Given the description of an element on the screen output the (x, y) to click on. 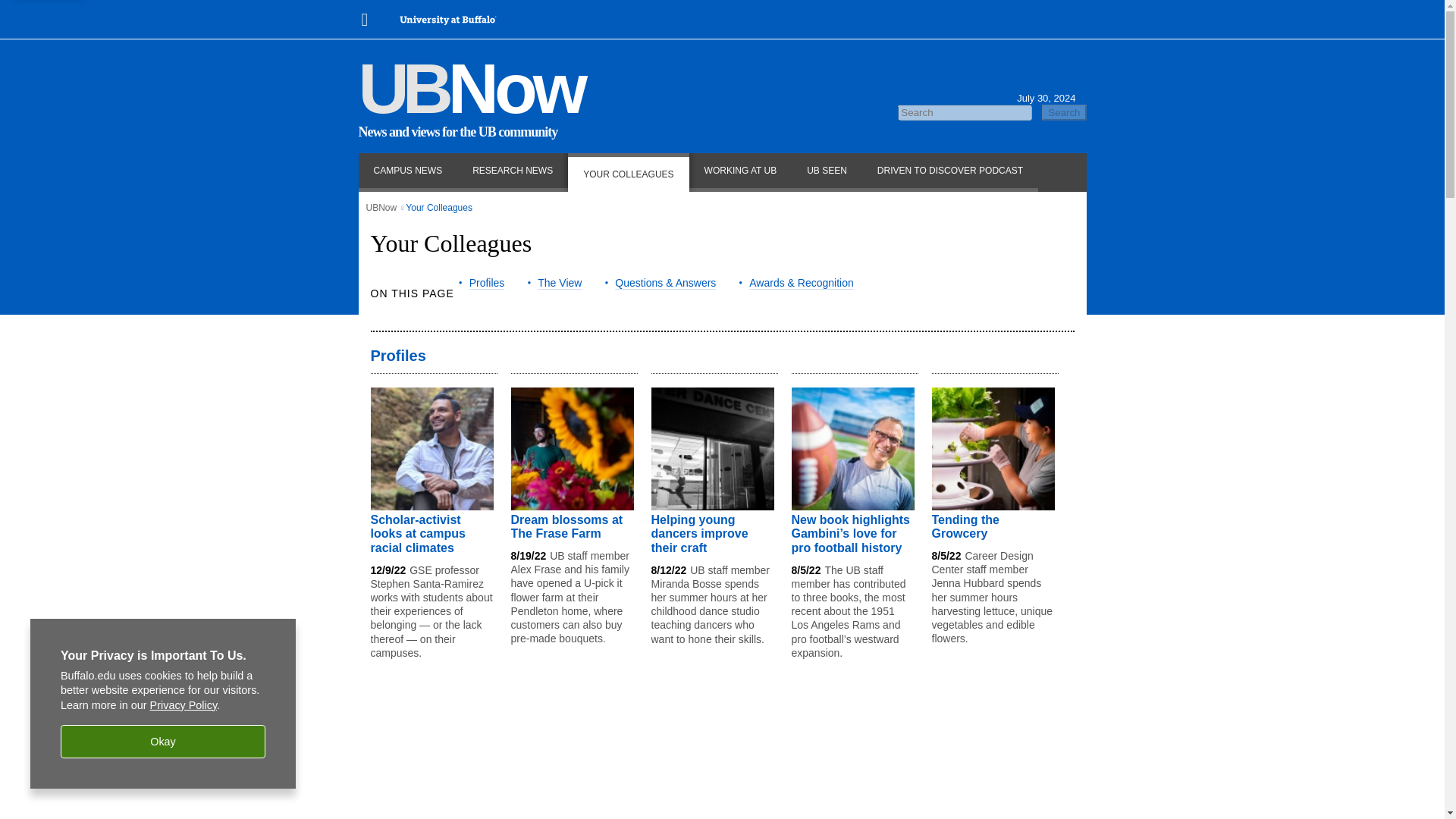
DRIVEN TO DISCOVER PODCAST (949, 172)
Profiles (486, 289)
RESEARCH NEWS (512, 172)
UB SEEN (826, 172)
YOUR COLLEAGUES (627, 172)
The View (558, 289)
Search (1064, 112)
WORKING AT UB (740, 172)
Search (1064, 112)
CAMPUS NEWS (407, 172)
UBNow (380, 207)
UBNow (470, 88)
